Given the description of an element on the screen output the (x, y) to click on. 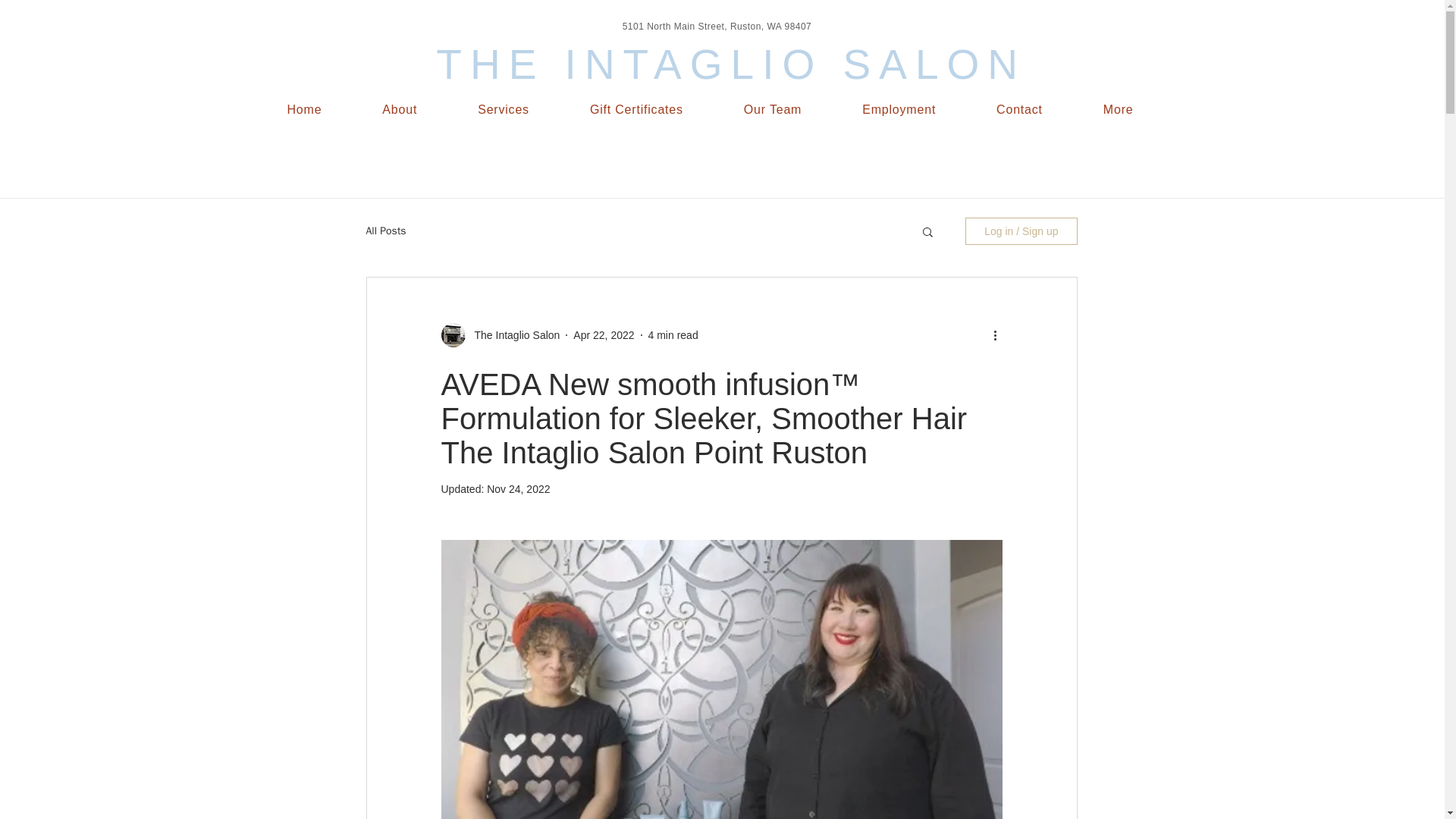
5101 North Main Street, Ruston, WA 98407 (717, 26)
The Intaglio Salon (512, 335)
About (399, 109)
Home (304, 109)
Contact (1019, 109)
Employment (898, 109)
Our Team (772, 109)
4 min read (672, 335)
Apr 22, 2022 (603, 335)
 THE INTAGLIO SALON (721, 63)
